Given the description of an element on the screen output the (x, y) to click on. 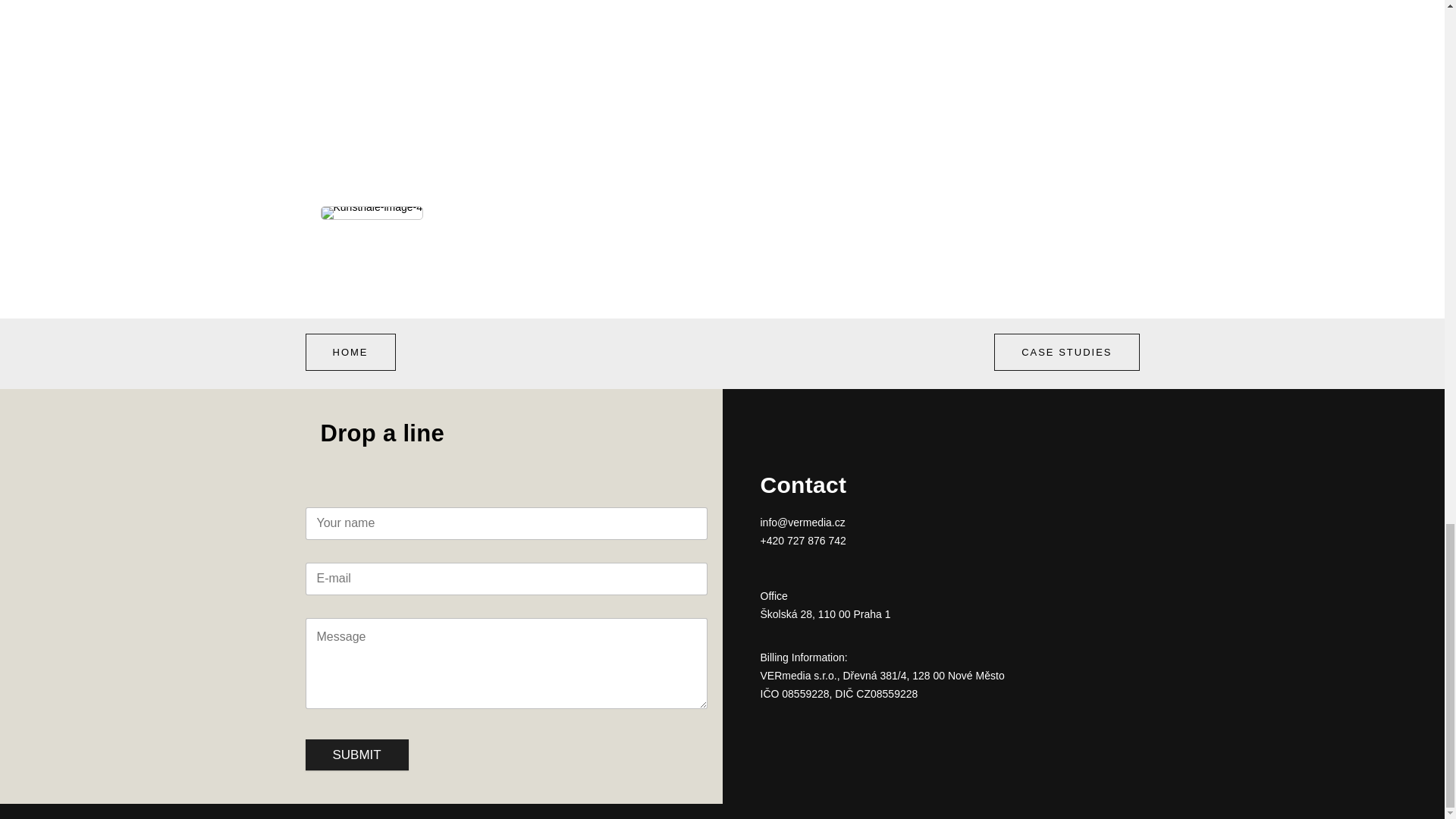
HOME (349, 352)
CASE STUDIES (1066, 352)
SUBMIT (355, 754)
